Given the description of an element on the screen output the (x, y) to click on. 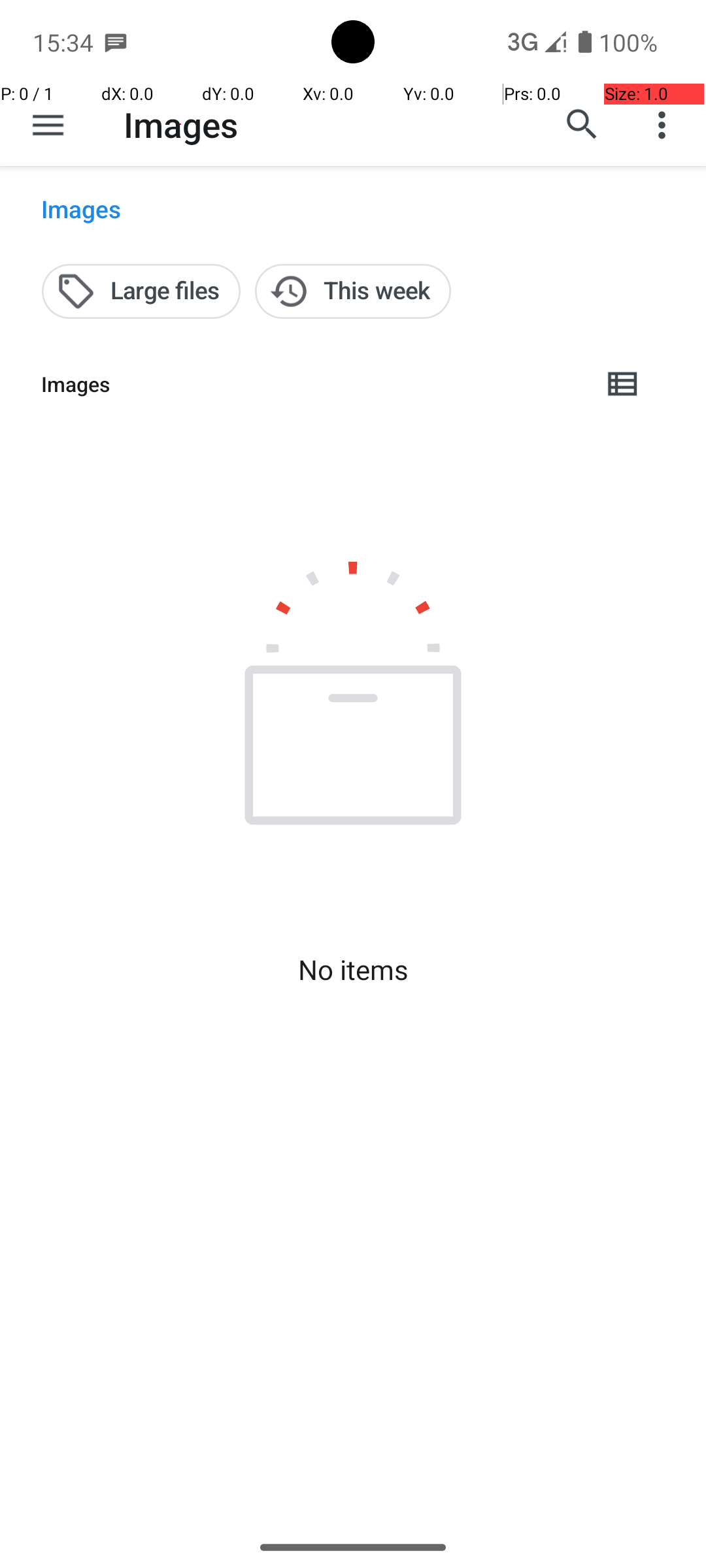
Large files Element type: android.widget.CompoundButton (140, 291)
This week Element type: android.widget.CompoundButton (352, 291)
No items Element type: android.widget.TextView (352, 968)
SMS Messenger notification: +12845986552 Element type: android.widget.ImageView (115, 41)
